Given the description of an element on the screen output the (x, y) to click on. 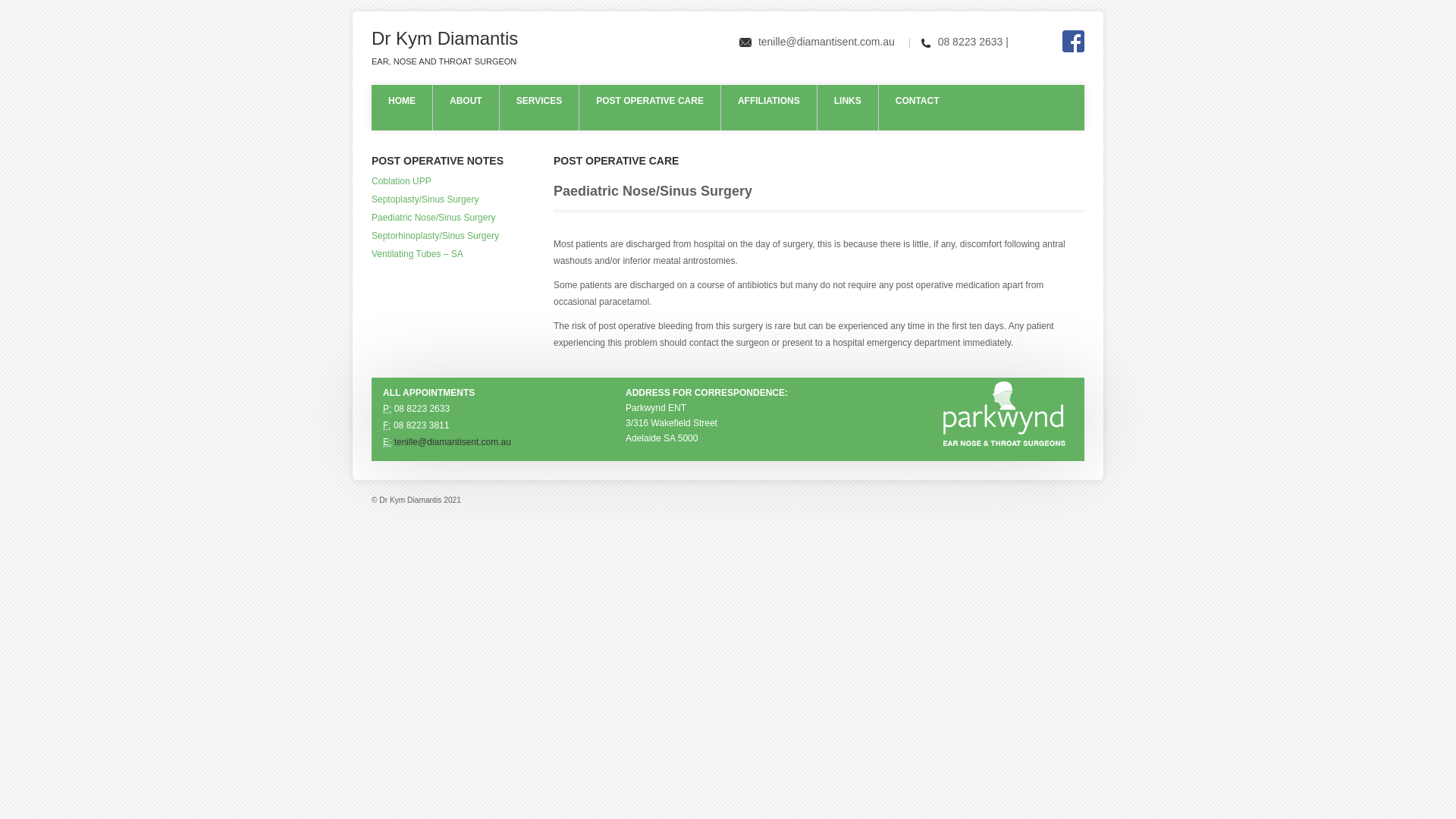
Paediatric Nose/Sinus Surgery Element type: text (433, 217)
LINKS Element type: text (847, 107)
Coblation UPP Element type: text (401, 180)
Dr Kym Diamantis
EAR, NOSE AND THROAT SURGEON Element type: text (444, 48)
CONTACT Element type: text (917, 107)
HOME Element type: text (401, 107)
ABOUT Element type: text (465, 107)
SERVICES Element type: text (538, 107)
Septoplasty/Sinus Surgery Element type: text (424, 199)
AFFILIATIONS Element type: text (768, 107)
tenille@diamantisent.com.au Element type: text (452, 441)
POST OPERATIVE CARE Element type: text (649, 107)
tenille@diamantisent.com.au Element type: text (824, 41)
Septorhinoplasty/Sinus Surgery Element type: text (434, 235)
